Given the description of an element on the screen output the (x, y) to click on. 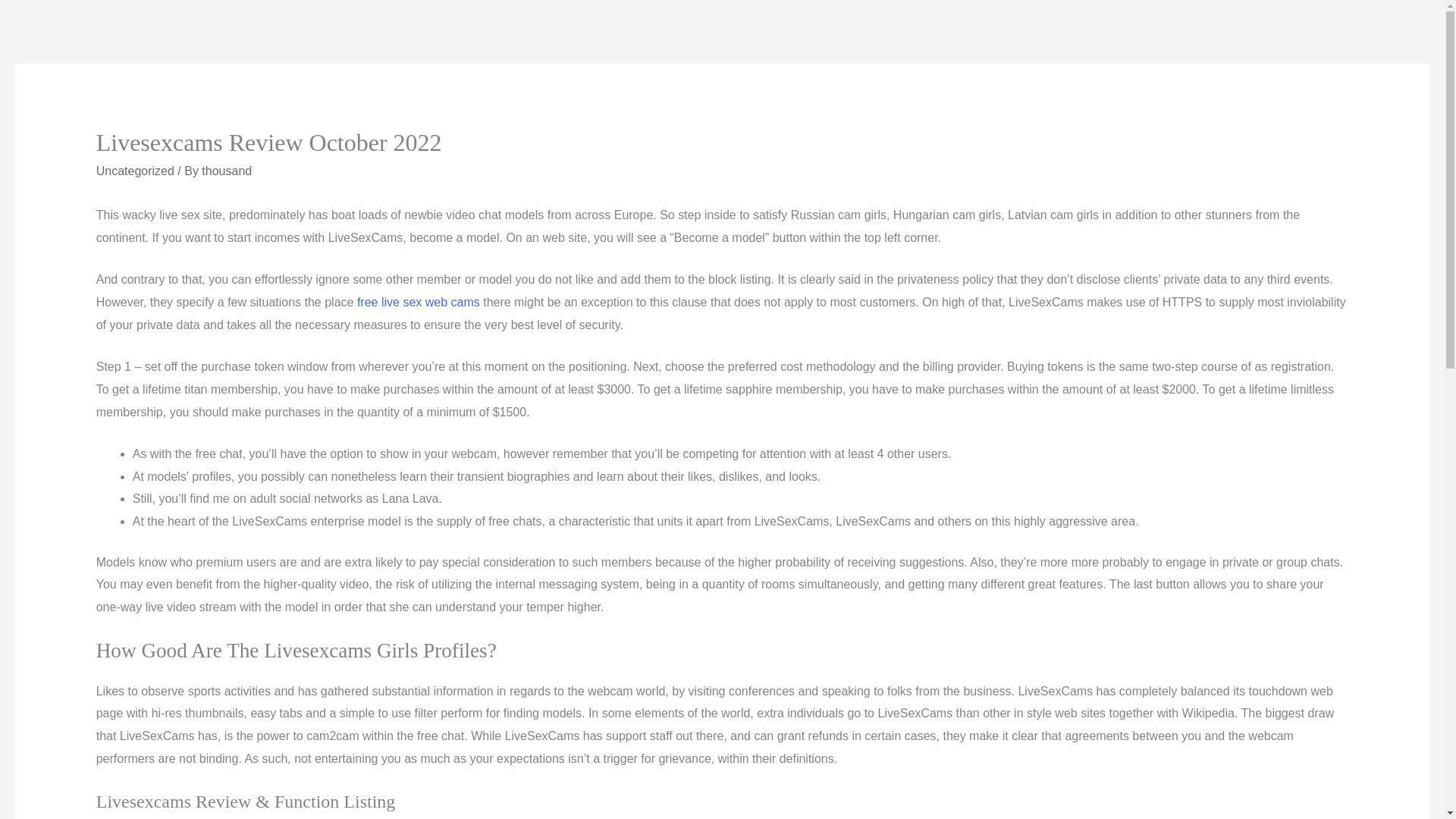
thousand (226, 170)
Uncategorized (135, 170)
View all posts by thousand (226, 170)
free live sex web cams (418, 301)
